Given the description of an element on the screen output the (x, y) to click on. 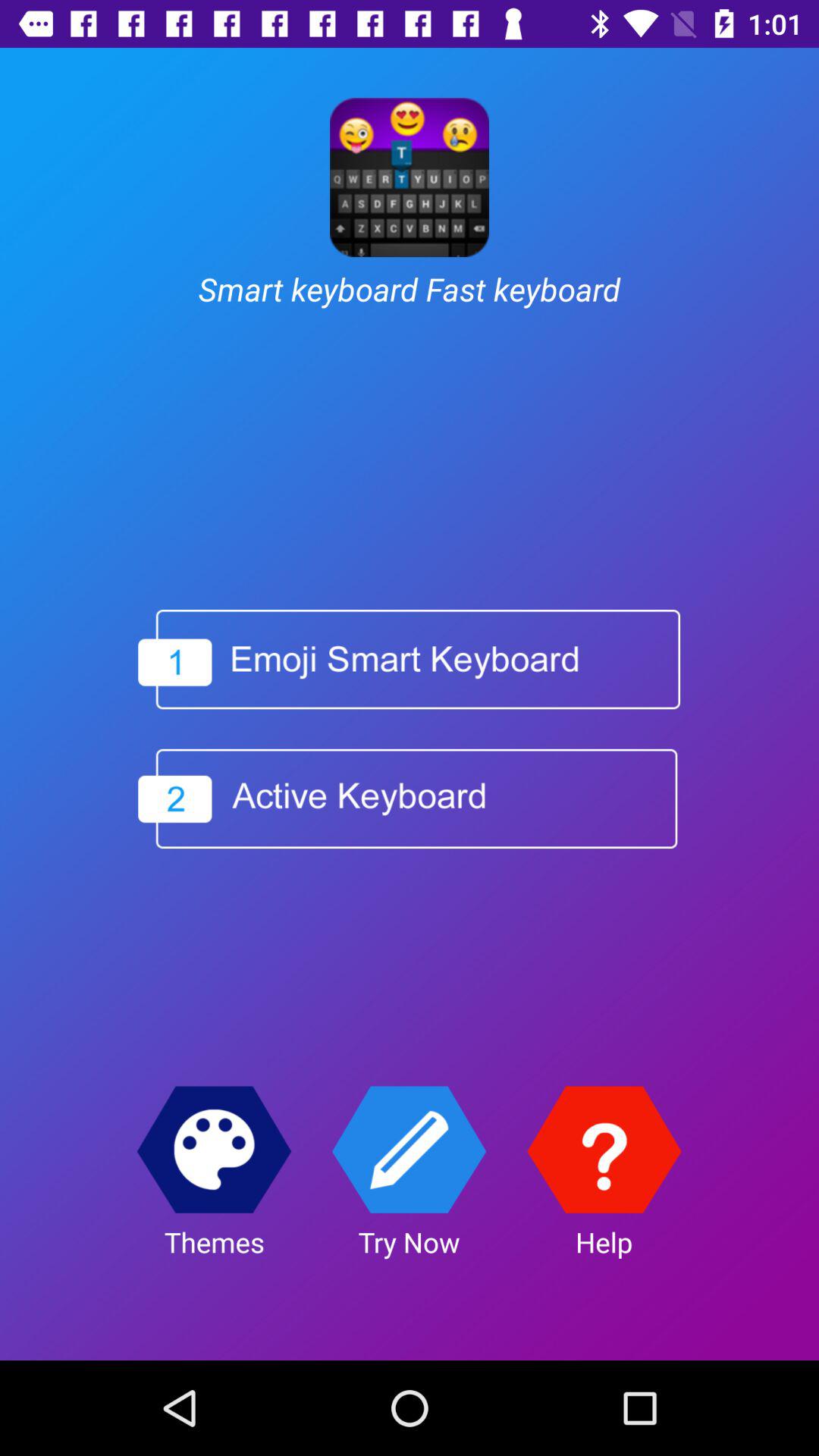
choose box (407, 798)
